Given the description of an element on the screen output the (x, y) to click on. 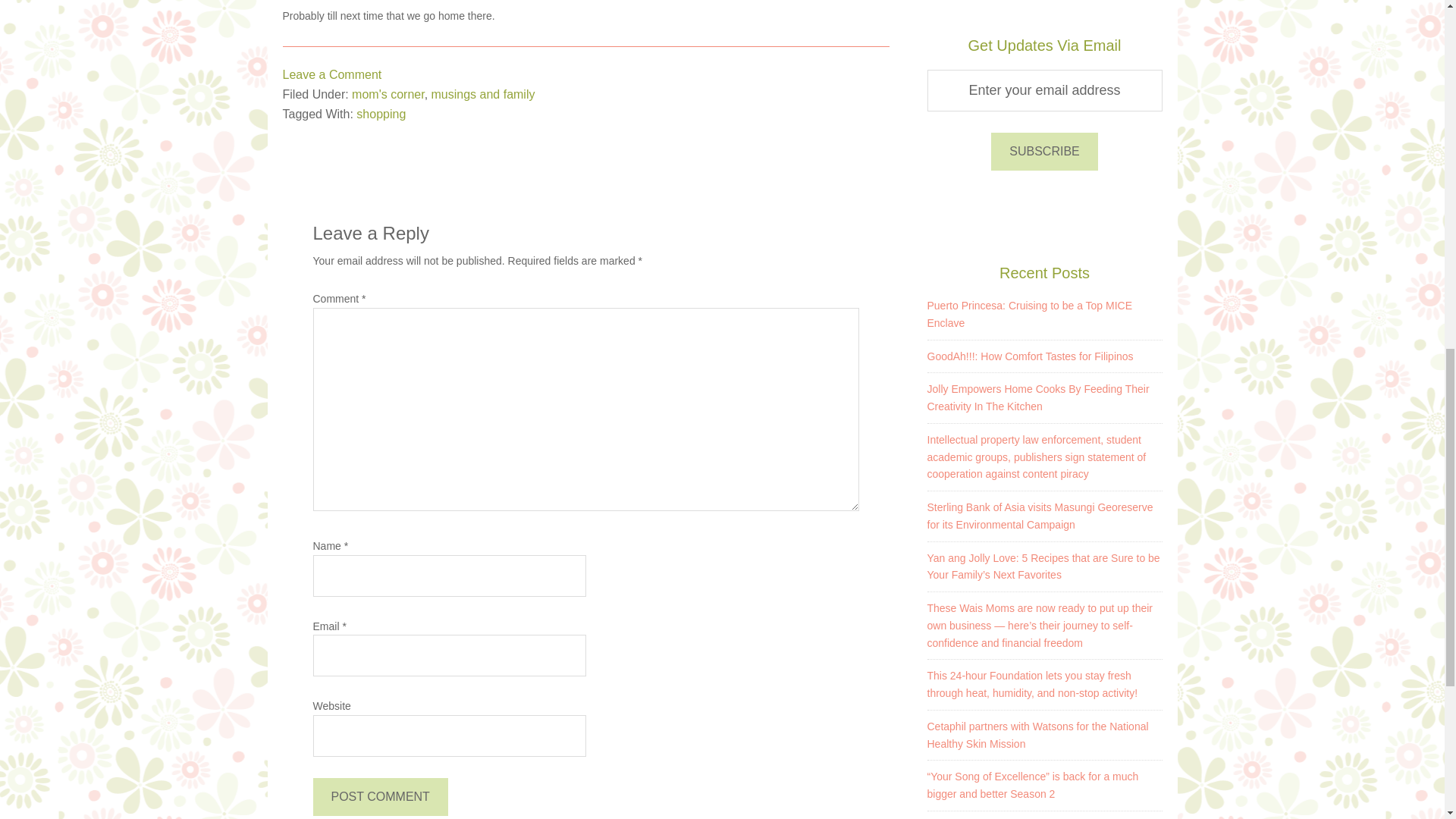
Leave a Comment (331, 74)
mom's corner (388, 93)
Puerto Princesa: Cruising to be a Top MICE Enclave (1029, 314)
Subscribe (1044, 151)
GoodAh!!!: How Comfort Tastes for Filipinos (1029, 356)
Subscribe (1044, 151)
Post Comment (379, 796)
Post Comment (379, 796)
Enter your email address (1043, 90)
shopping (381, 113)
